Given the description of an element on the screen output the (x, y) to click on. 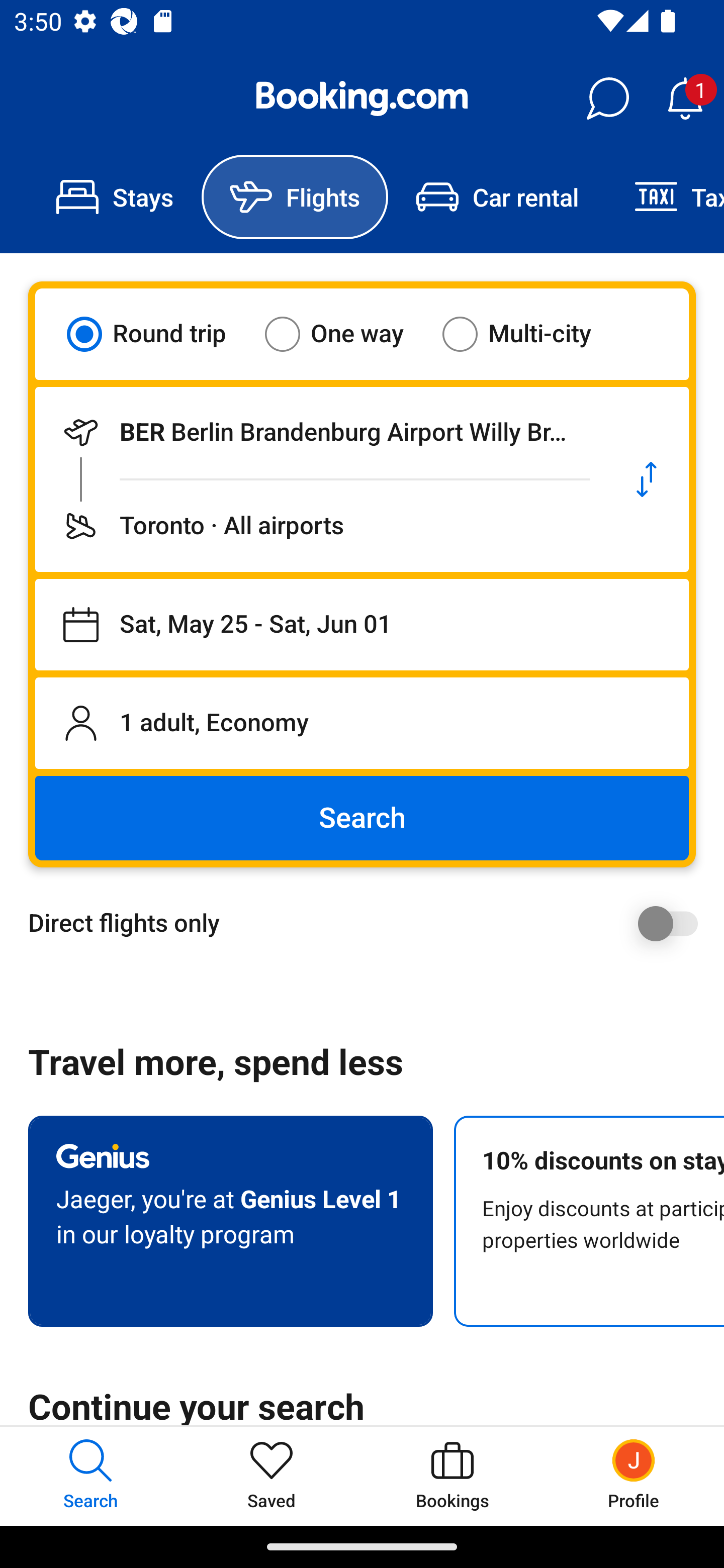
Messages (607, 98)
Notifications (685, 98)
Stays (114, 197)
Flights (294, 197)
Car rental (497, 197)
Taxi (665, 197)
One way (346, 333)
Multi-city (528, 333)
Swap departure location and destination (646, 479)
Flying to Toronto · All airports (319, 525)
Departing on Sat, May 25, returning on Sat, Jun 01 (361, 624)
1 adult, Economy (361, 722)
Search (361, 818)
Direct flights only (369, 923)
Saved (271, 1475)
Bookings (452, 1475)
Profile (633, 1475)
